Given the description of an element on the screen output the (x, y) to click on. 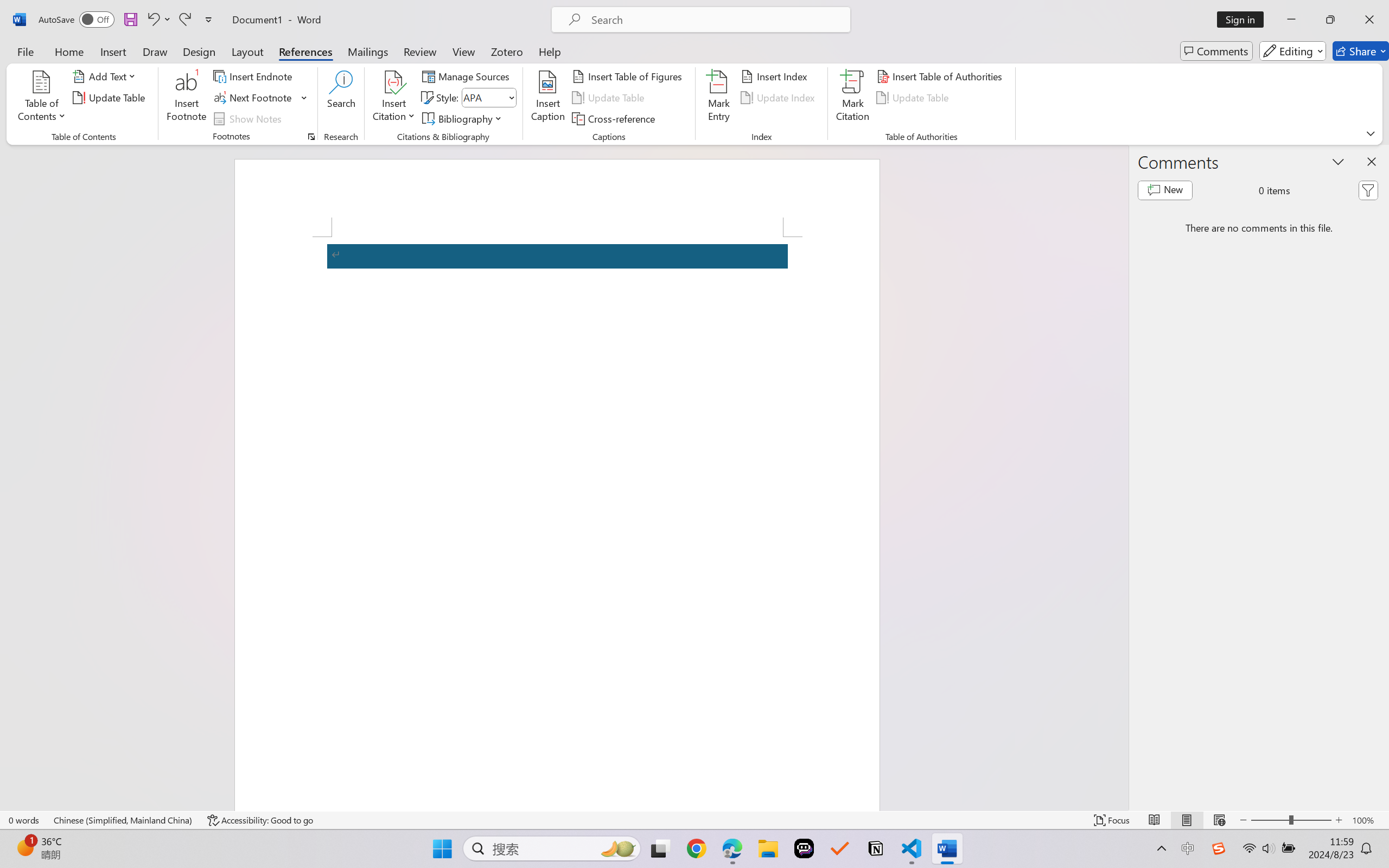
Update Table (914, 97)
